Given the description of an element on the screen output the (x, y) to click on. 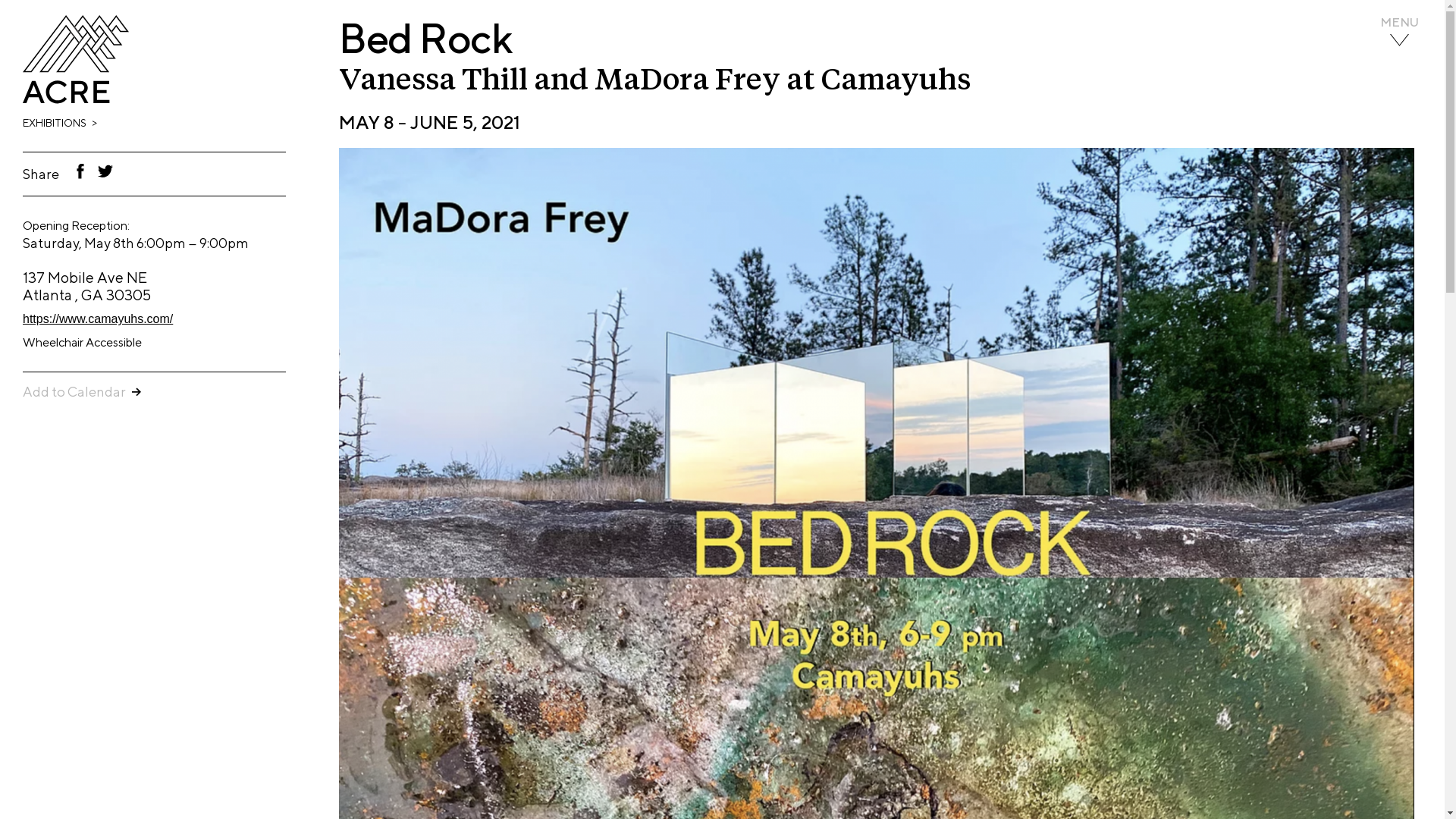
acreresidency.org homepage (76, 99)
Share on Twitter (105, 171)
Share on Facebook (79, 171)
MENU (1398, 32)
